Given the description of an element on the screen output the (x, y) to click on. 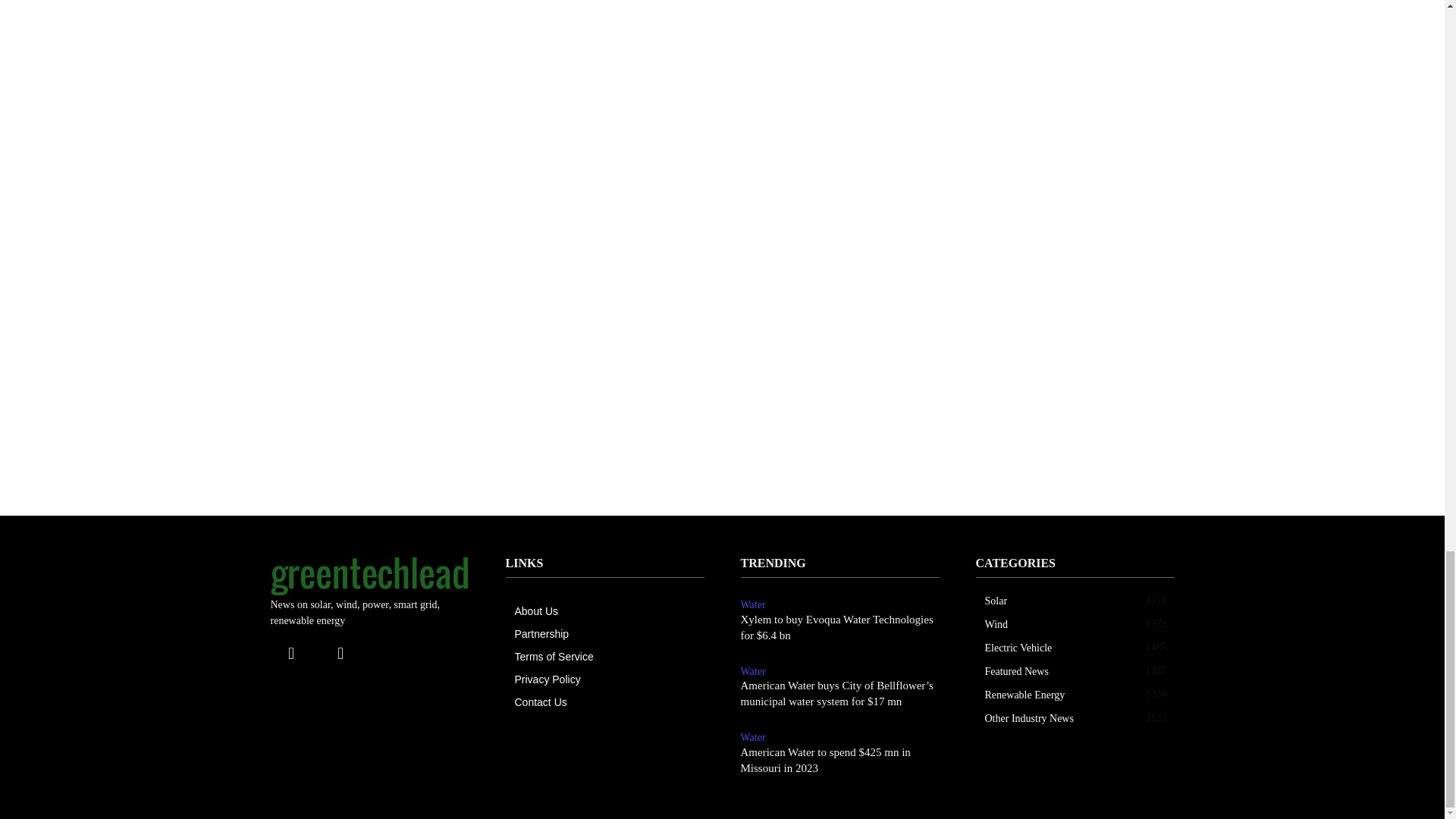
Facebook (290, 653)
Privacy Policy (608, 679)
Water (752, 604)
Twitter (340, 653)
Contact Us (608, 702)
About Us (608, 610)
Terms of Service (608, 656)
Partnership (608, 633)
